Given the description of an element on the screen output the (x, y) to click on. 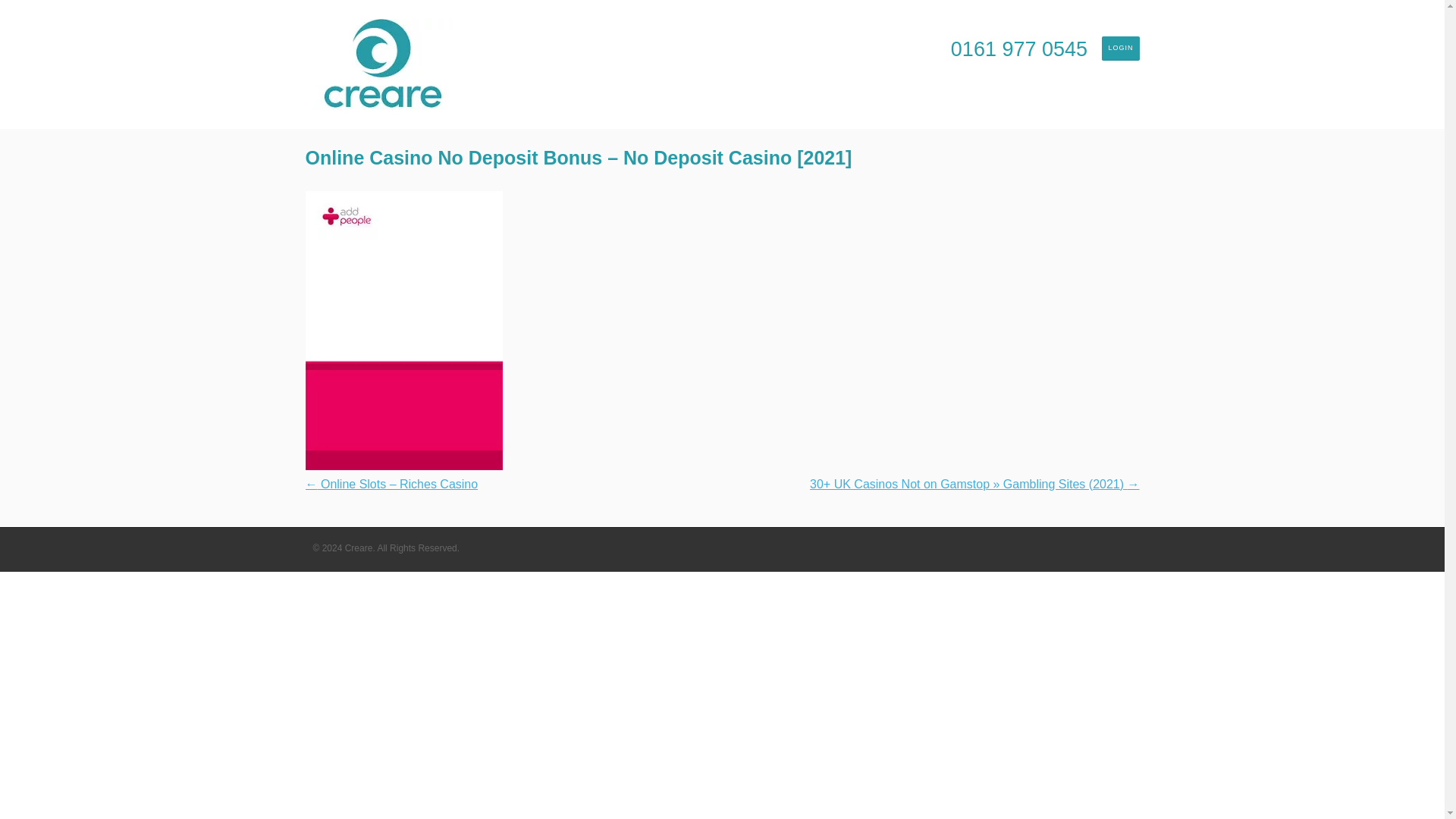
LOGIN (1120, 48)
0161 977 0545 (1018, 49)
